Given the description of an element on the screen output the (x, y) to click on. 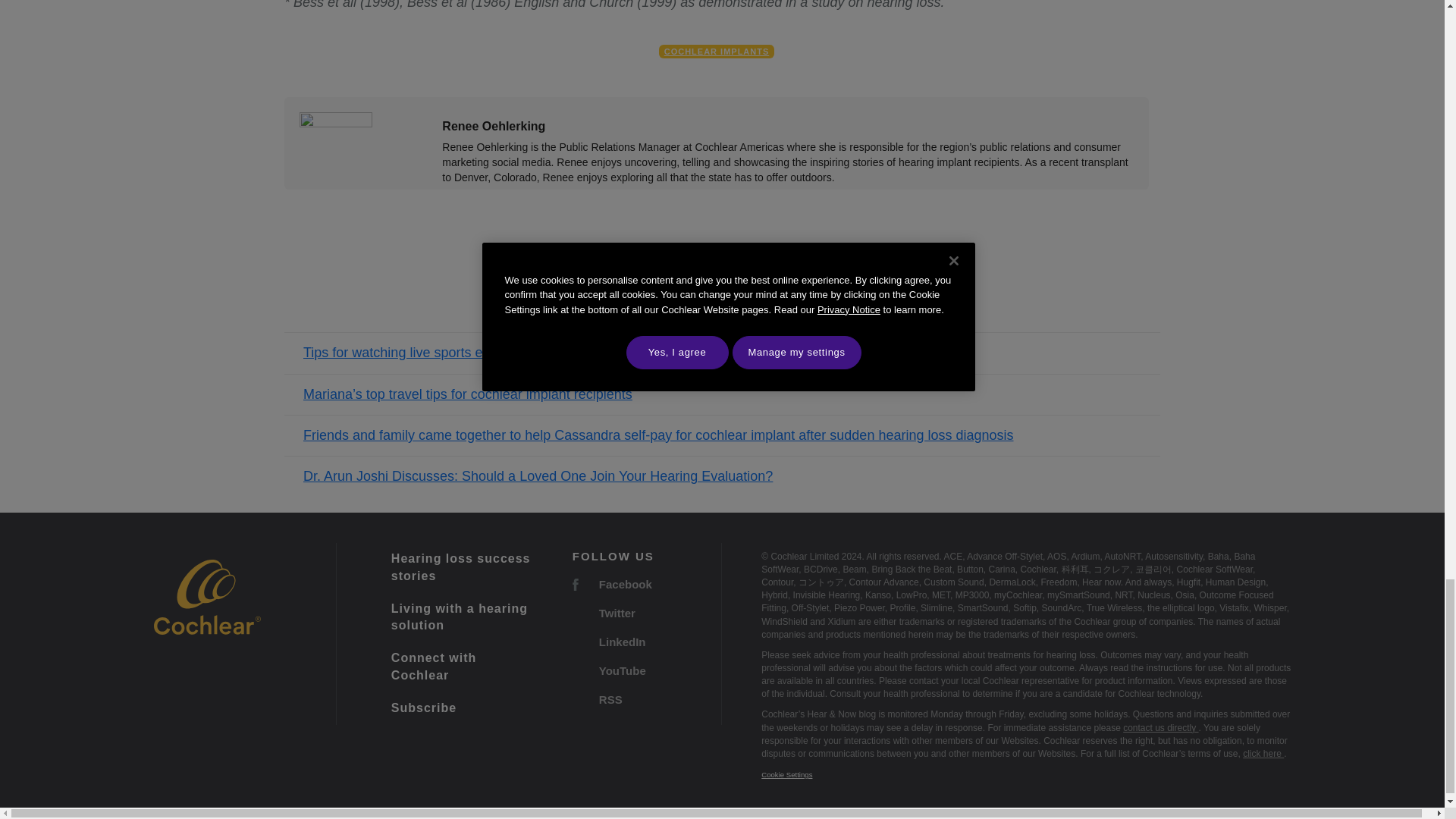
COCHLEAR IMPLANTS (716, 51)
